Given the description of an element on the screen output the (x, y) to click on. 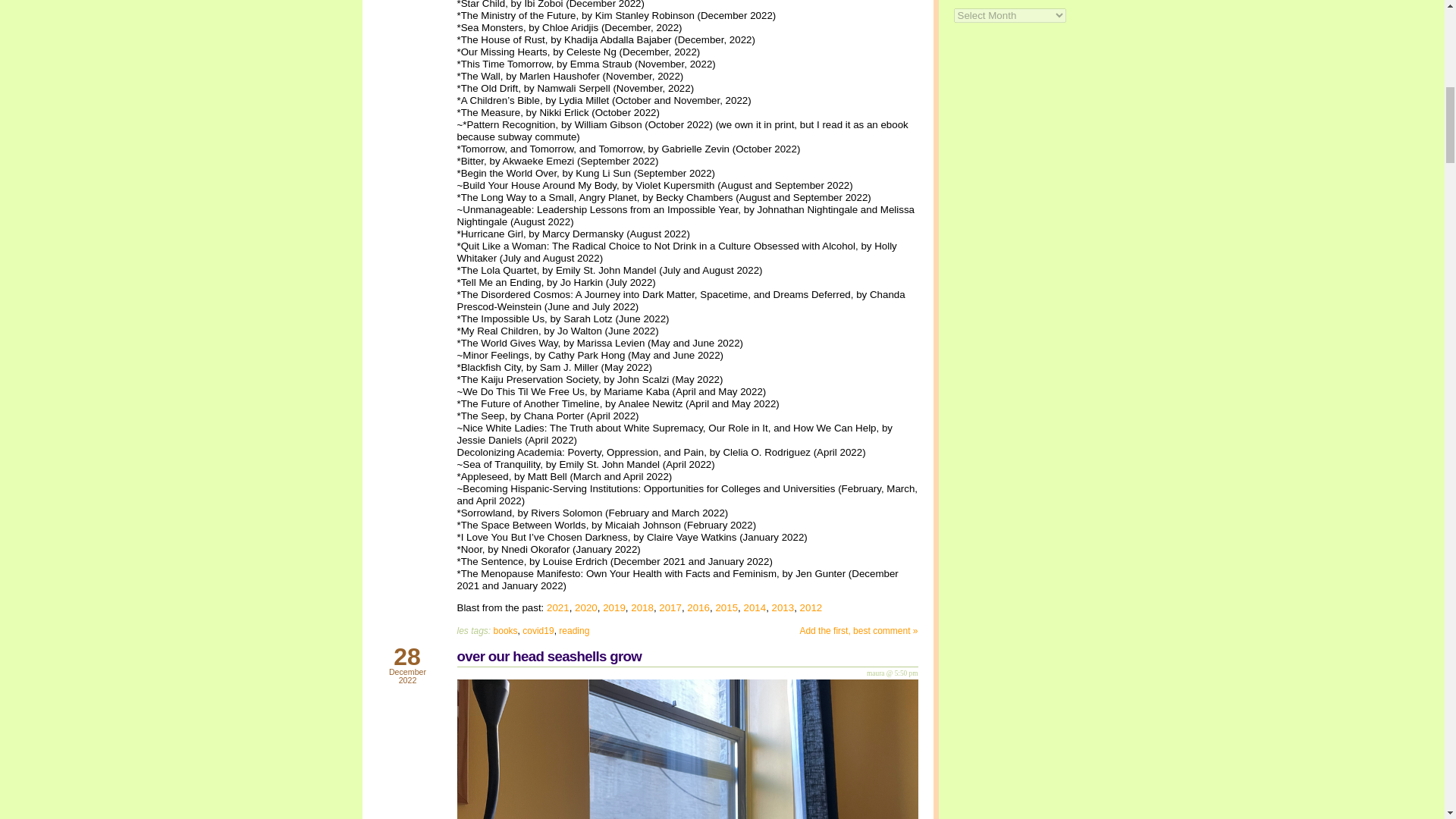
over our head seashells grow (549, 656)
2017 (670, 607)
2012 (810, 607)
2013 (782, 607)
2016 (698, 607)
2014 (753, 607)
covid19 (537, 630)
reading (574, 630)
2018 (641, 607)
2019 (614, 607)
2021 (558, 607)
books (505, 630)
2020 (585, 607)
2015 (726, 607)
